Given the description of an element on the screen output the (x, y) to click on. 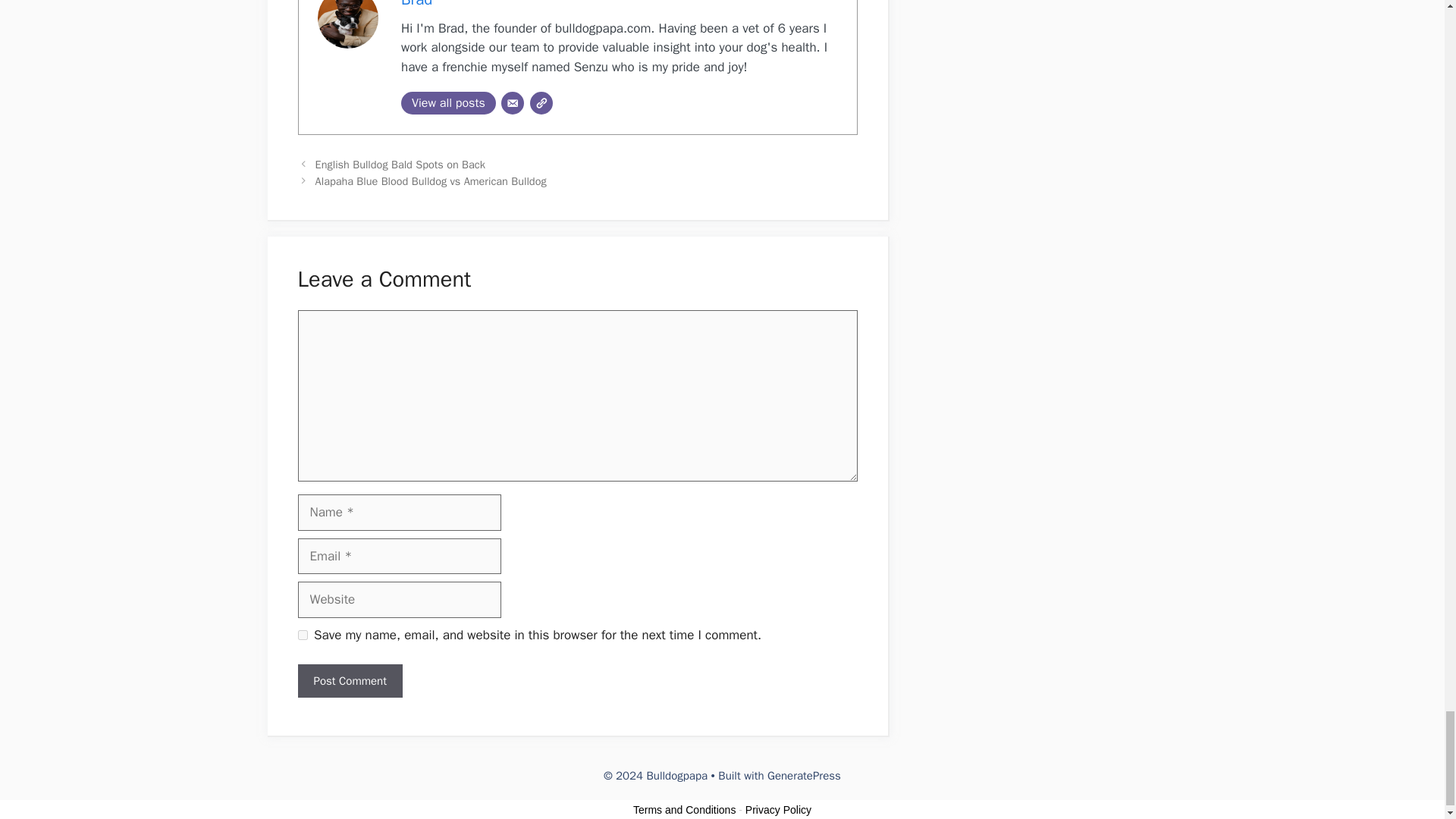
yes (302, 634)
Post Comment (349, 681)
